Given the description of an element on the screen output the (x, y) to click on. 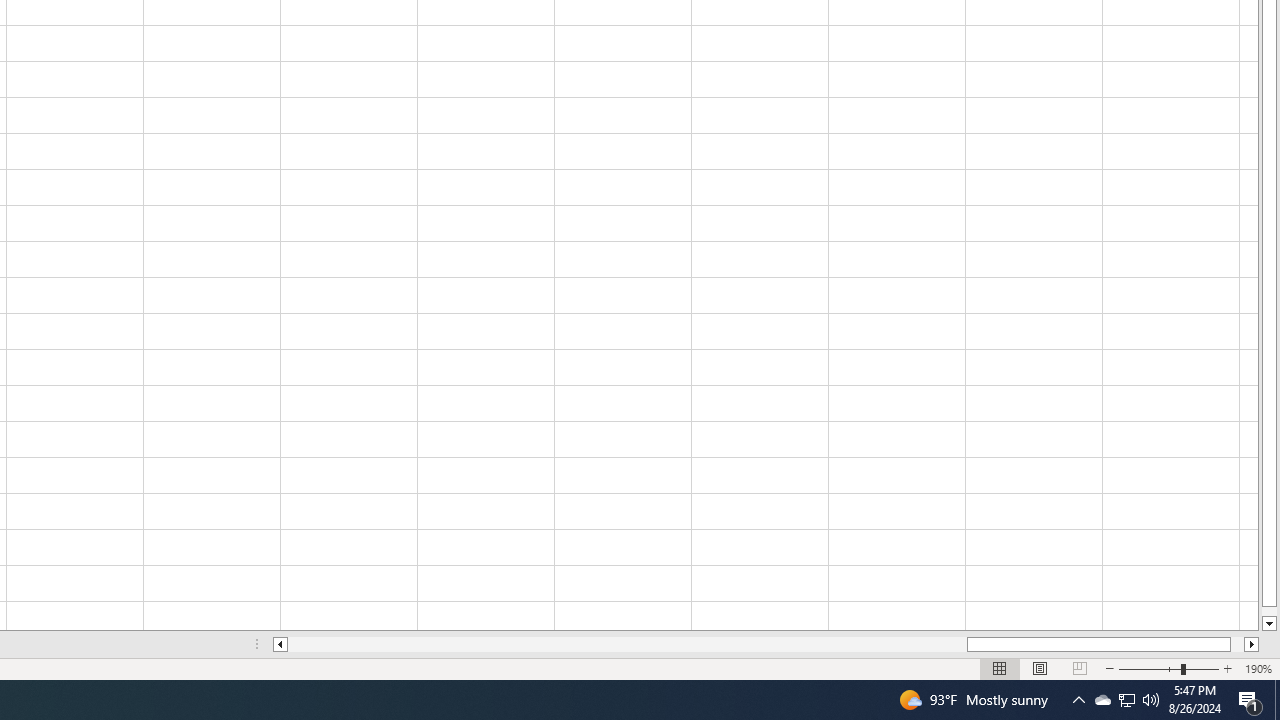
Page left (627, 644)
